Given the description of an element on the screen output the (x, y) to click on. 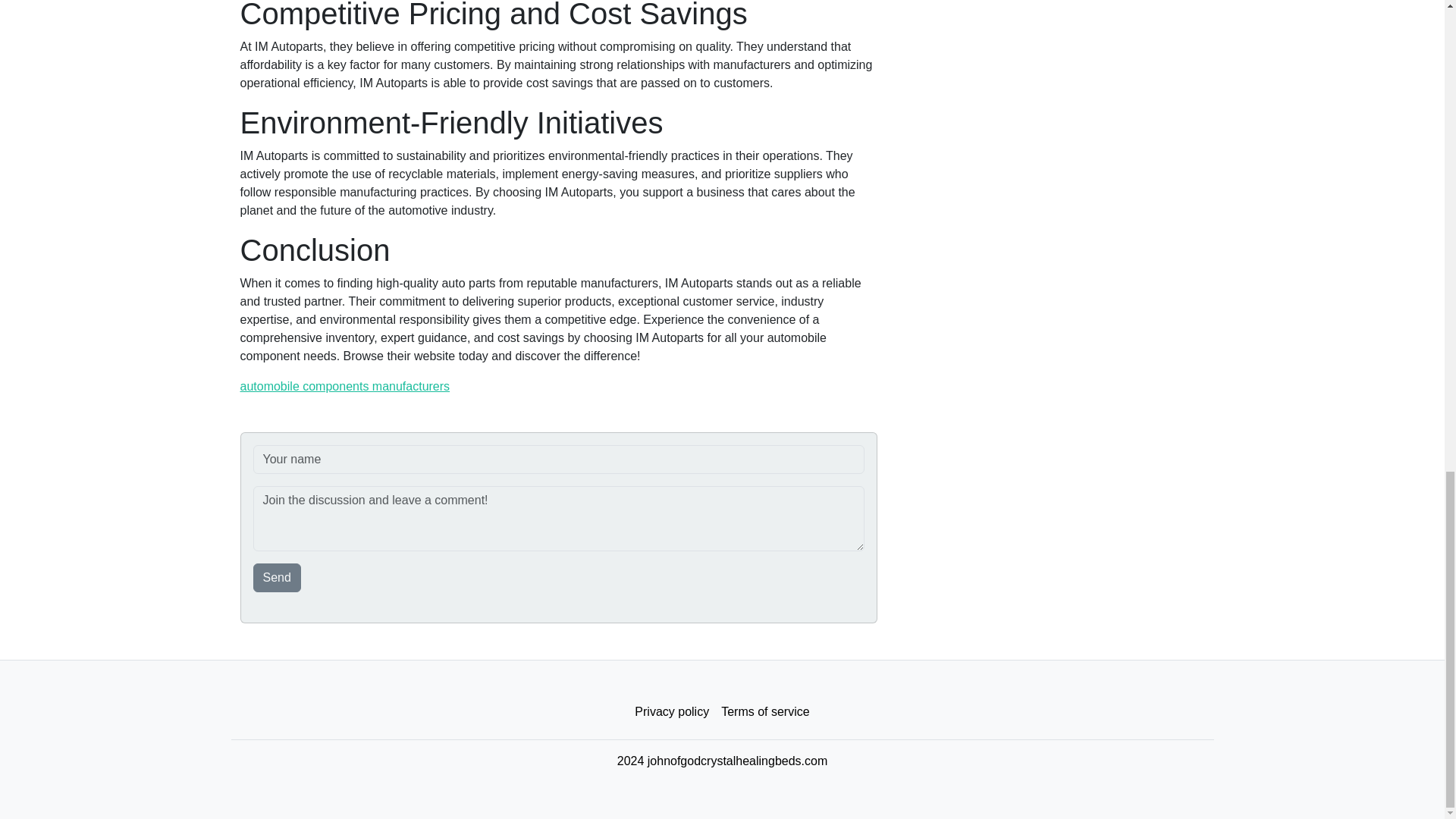
automobile components manufacturers (344, 386)
Send (277, 577)
Terms of service (764, 711)
Send (277, 577)
Privacy policy (671, 711)
